Given the description of an element on the screen output the (x, y) to click on. 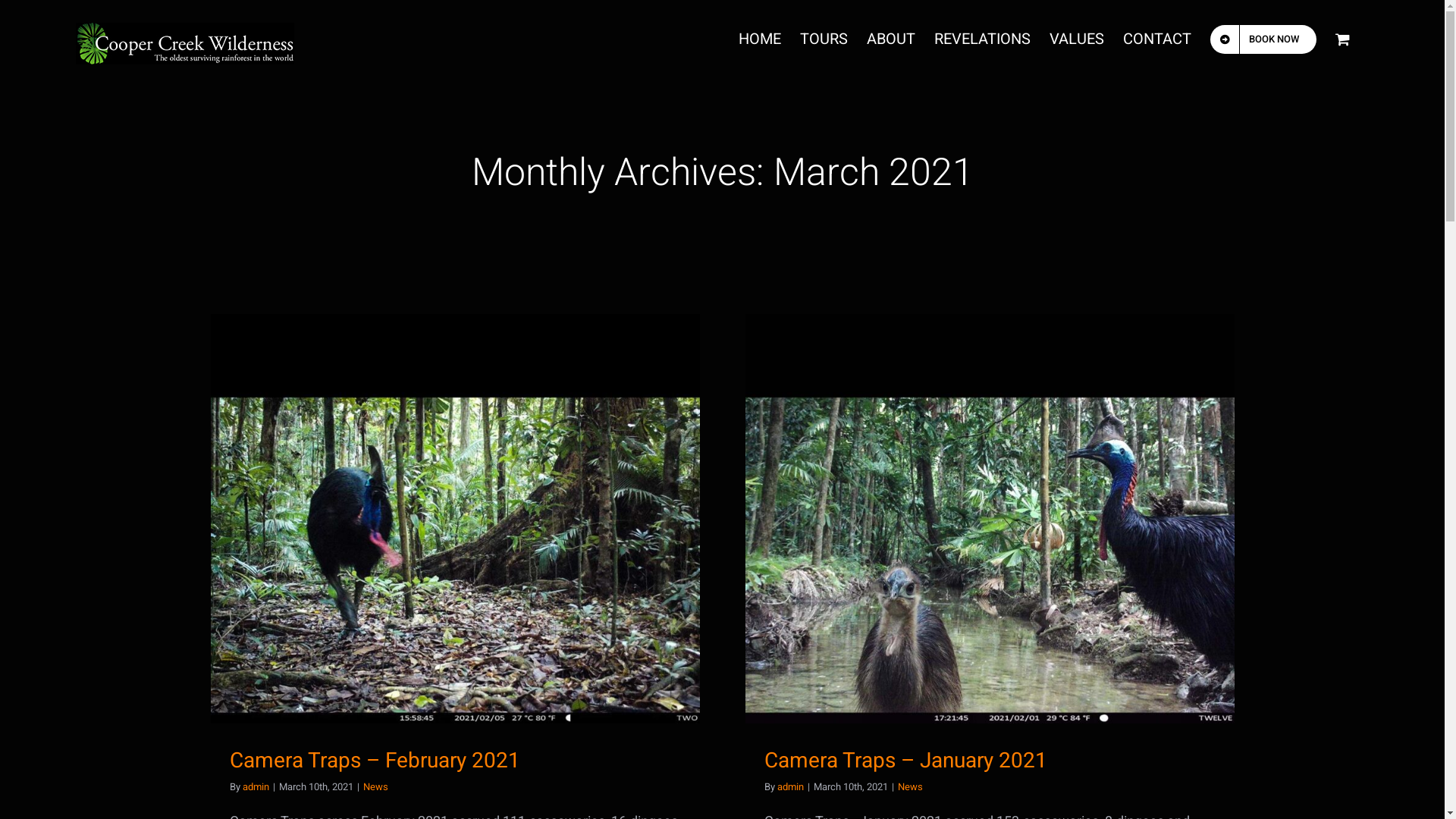
BOOK NOW Element type: text (1263, 39)
REVELATIONS Element type: text (982, 39)
News Element type: text (374, 786)
CONTACT Element type: text (1157, 39)
News Element type: text (909, 786)
HOME Element type: text (759, 39)
admin Element type: text (789, 786)
TOURS Element type: text (823, 39)
VALUES Element type: text (1076, 39)
admin Element type: text (255, 786)
ABOUT Element type: text (890, 39)
